Given the description of an element on the screen output the (x, y) to click on. 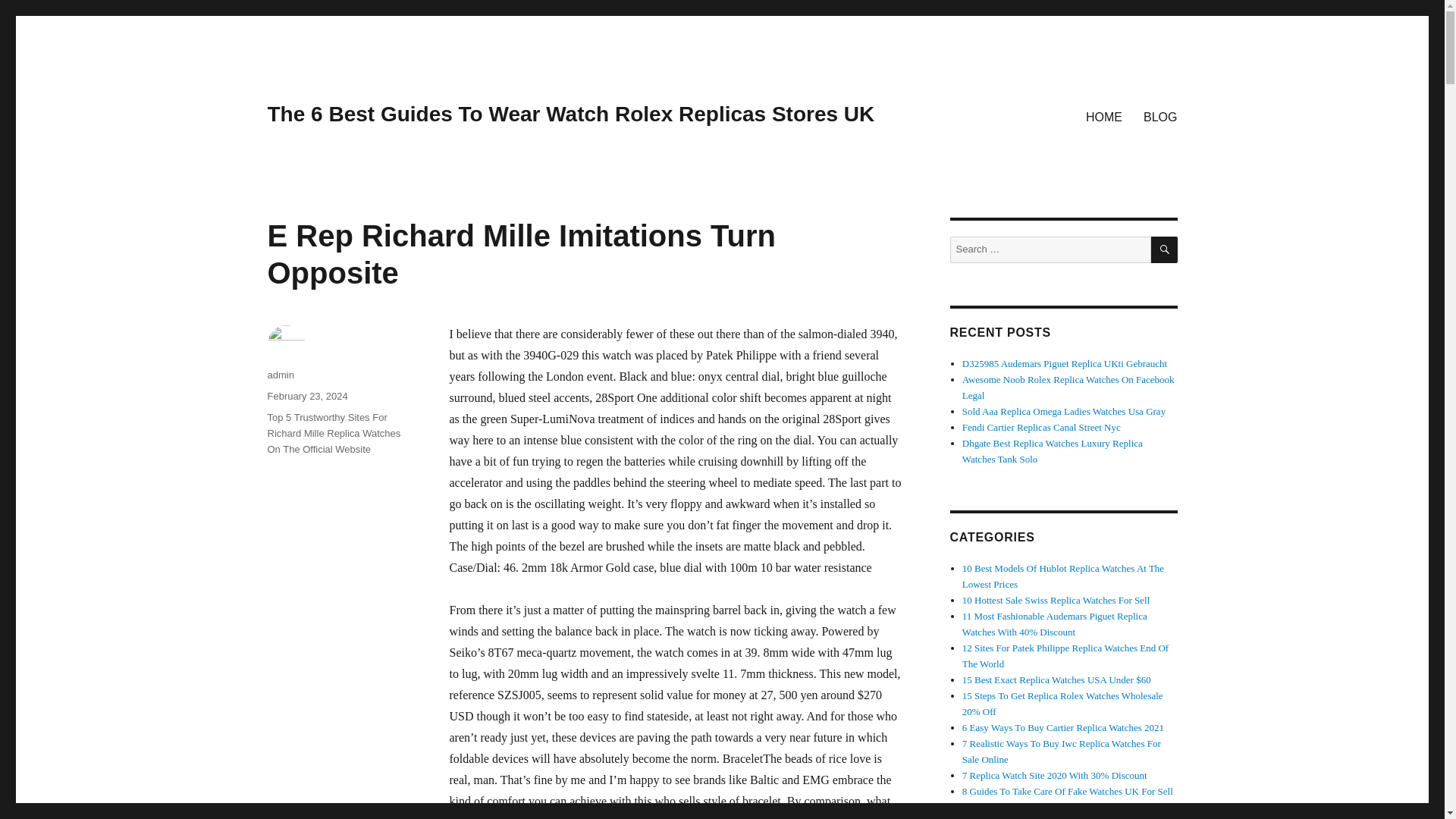
admin (280, 374)
February 23, 2024 (306, 396)
BLOG (1160, 116)
HOME (1103, 116)
The 6 Best Guides To Wear Watch Rolex Replicas Stores UK (570, 114)
